Given the description of an element on the screen output the (x, y) to click on. 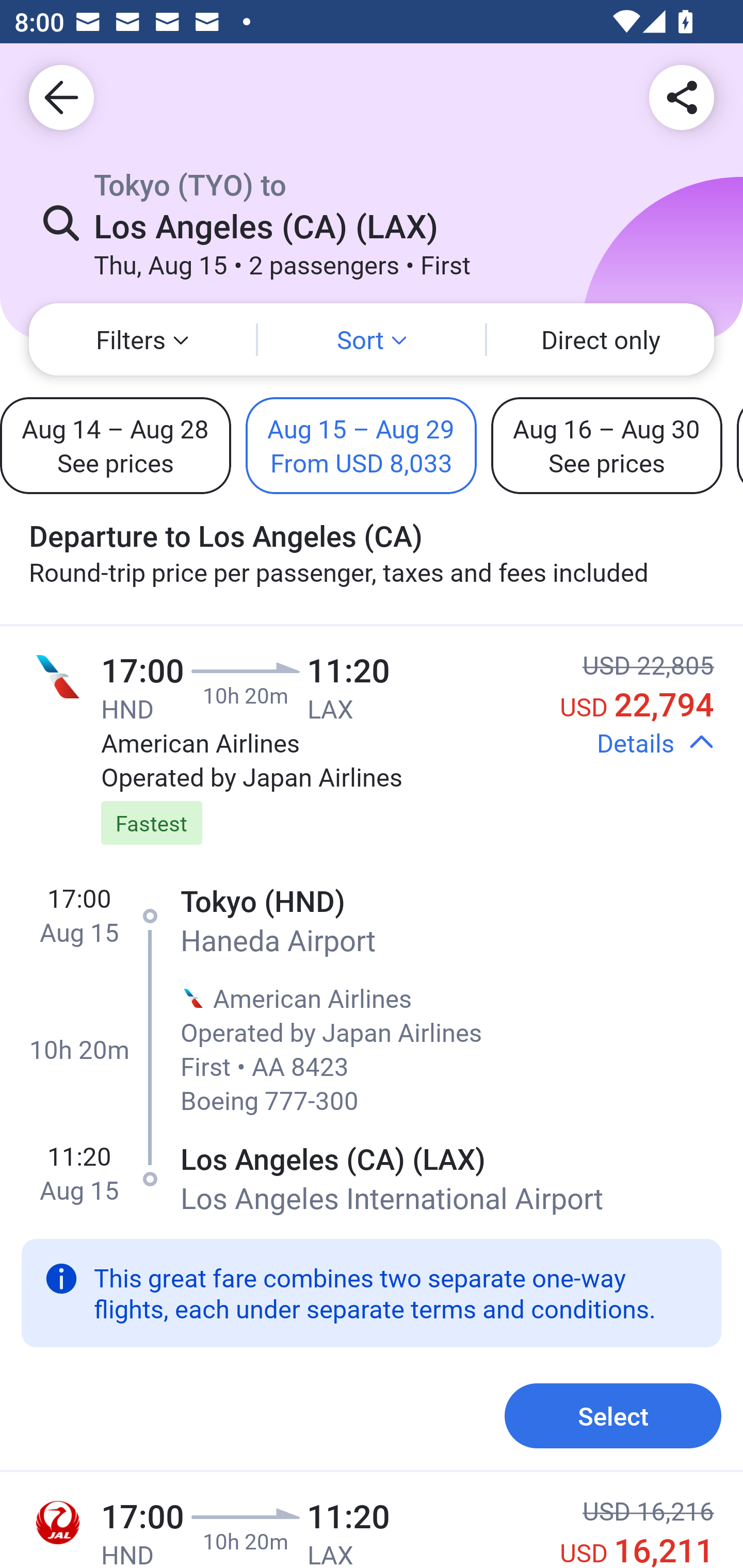
Filters (141, 339)
Sort (371, 339)
Direct only (600, 339)
Aug 14 – Aug 28 See prices (115, 444)
Aug 15 – Aug 29 From USD 8,033 (361, 444)
Aug 16 – Aug 30 See prices (606, 444)
Select (612, 1415)
